Given the description of an element on the screen output the (x, y) to click on. 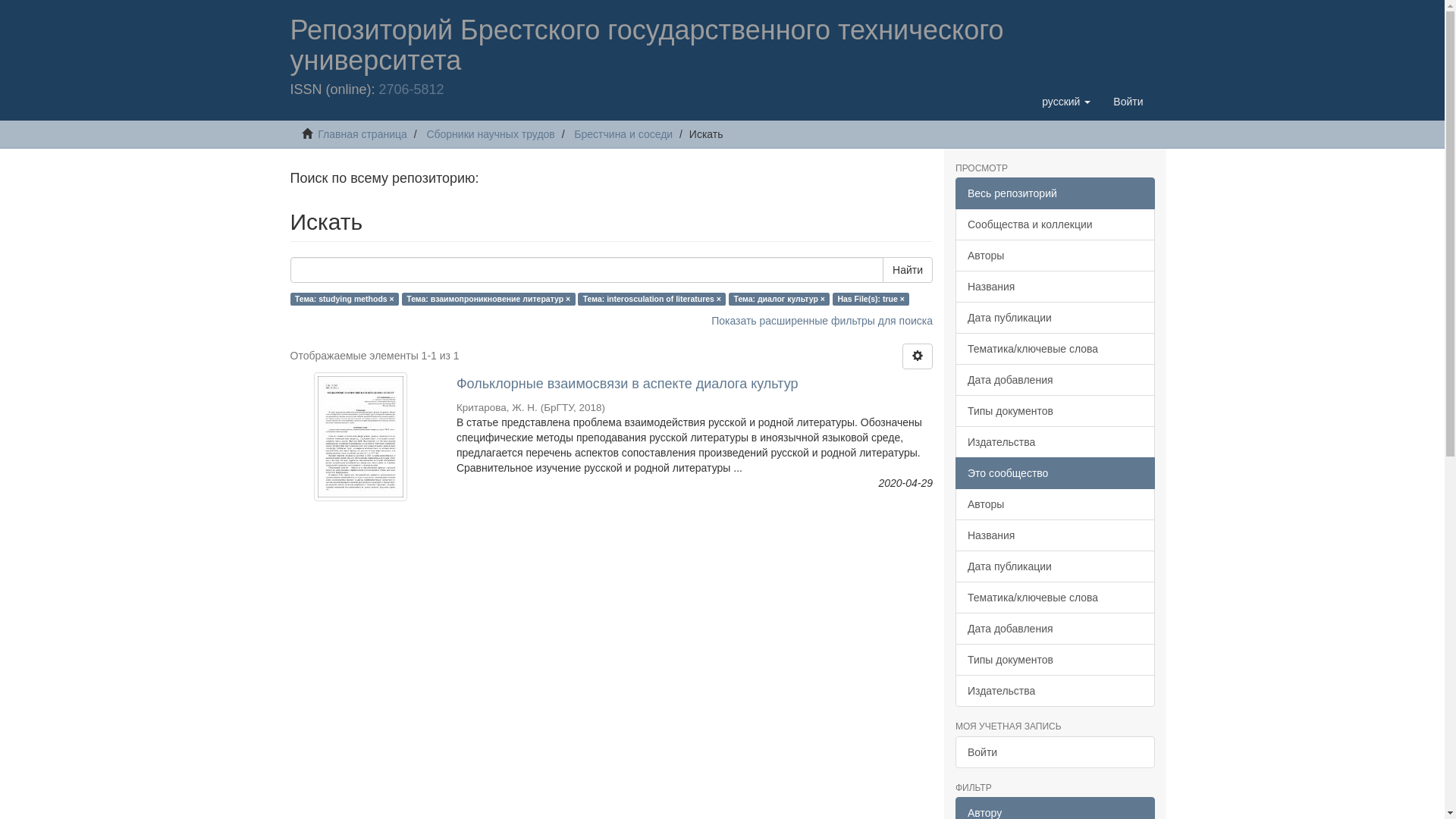
2706-5812 Element type: text (411, 89)
